Given the description of an element on the screen output the (x, y) to click on. 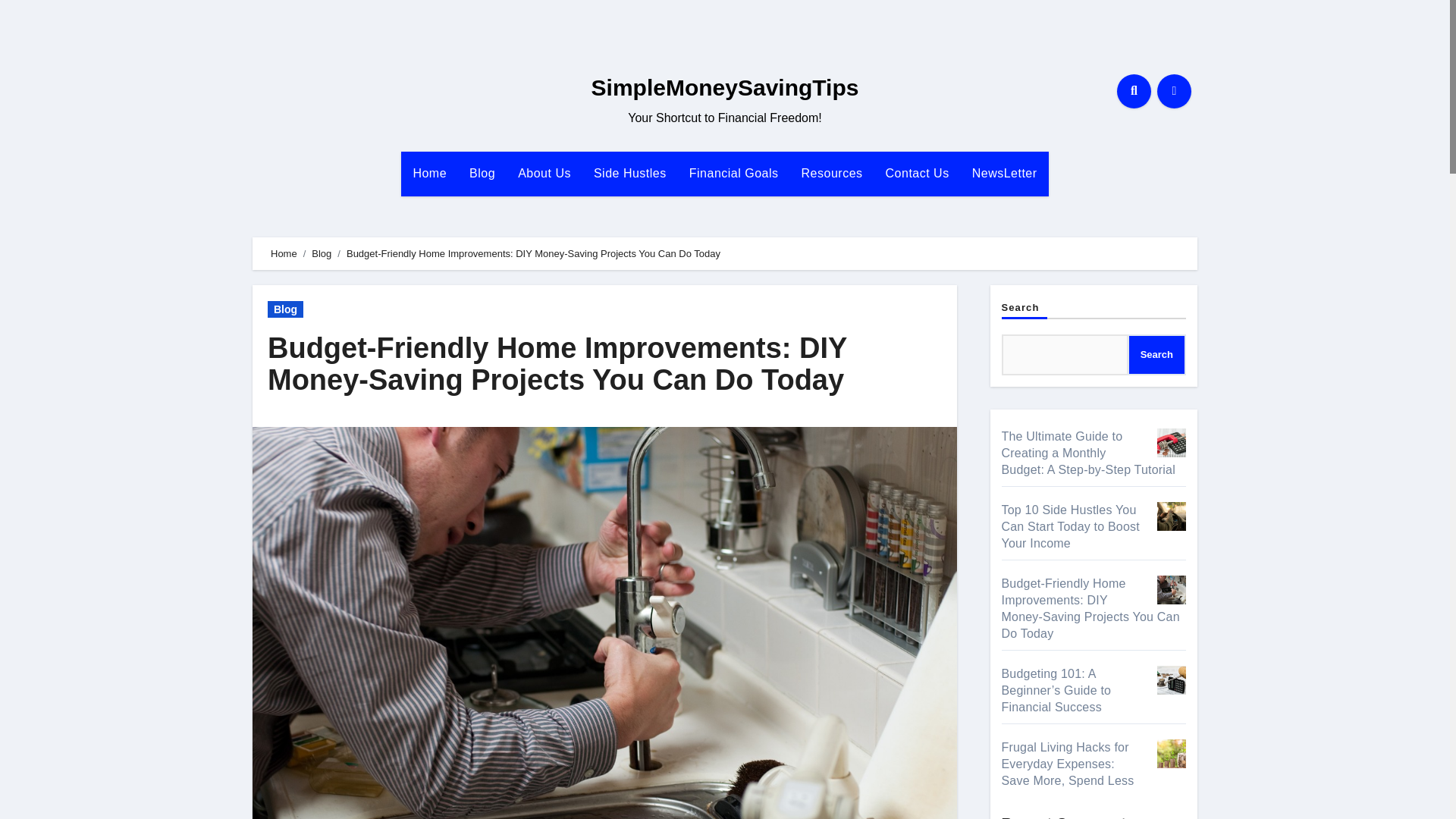
Blog (284, 309)
Blog (482, 173)
Side Hustles (630, 173)
Home (429, 173)
Resources (832, 173)
NewsLetter (1004, 173)
Home (429, 173)
Side Hustles (630, 173)
